Given the description of an element on the screen output the (x, y) to click on. 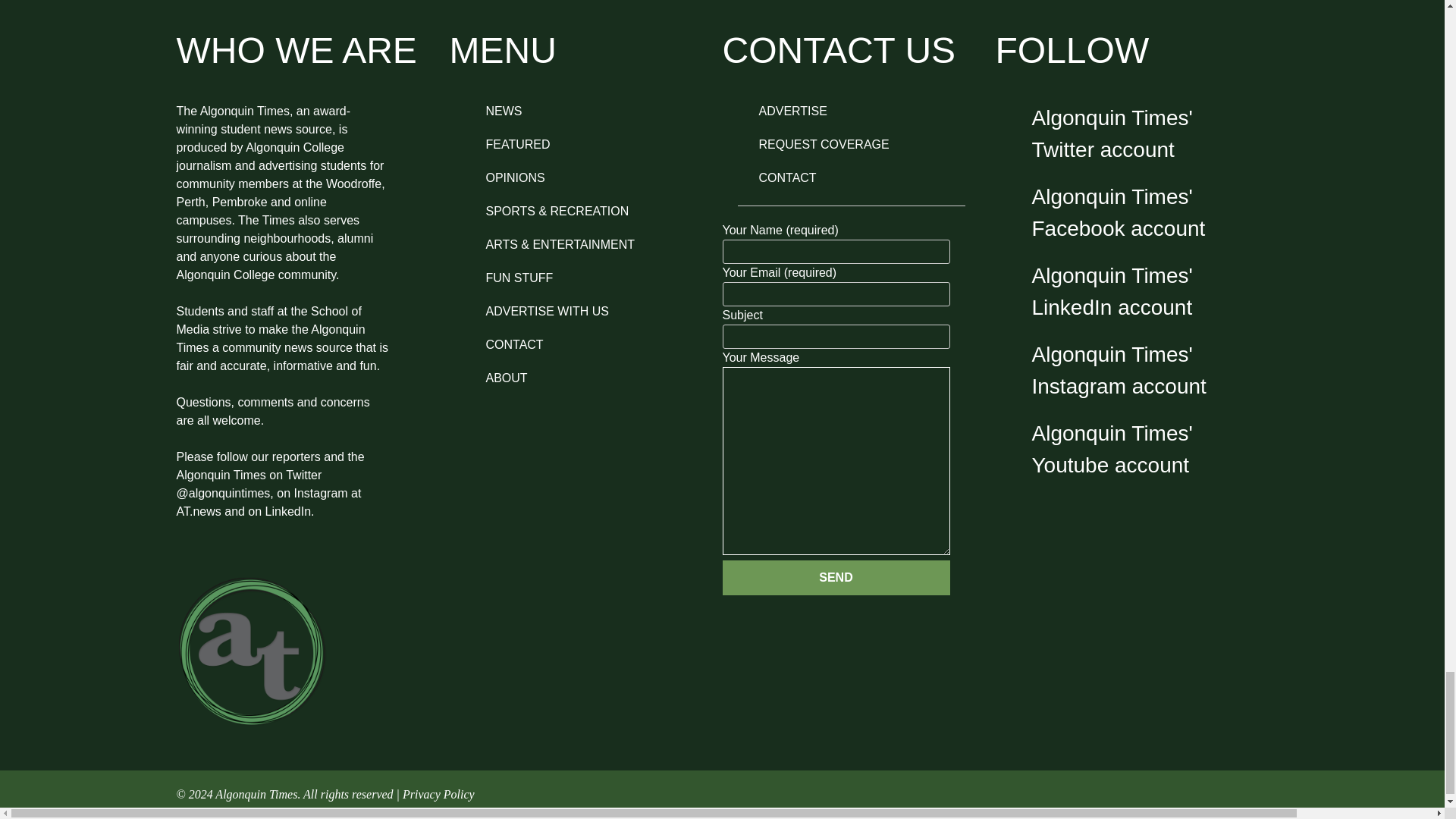
Send (835, 577)
